Given the description of an element on the screen output the (x, y) to click on. 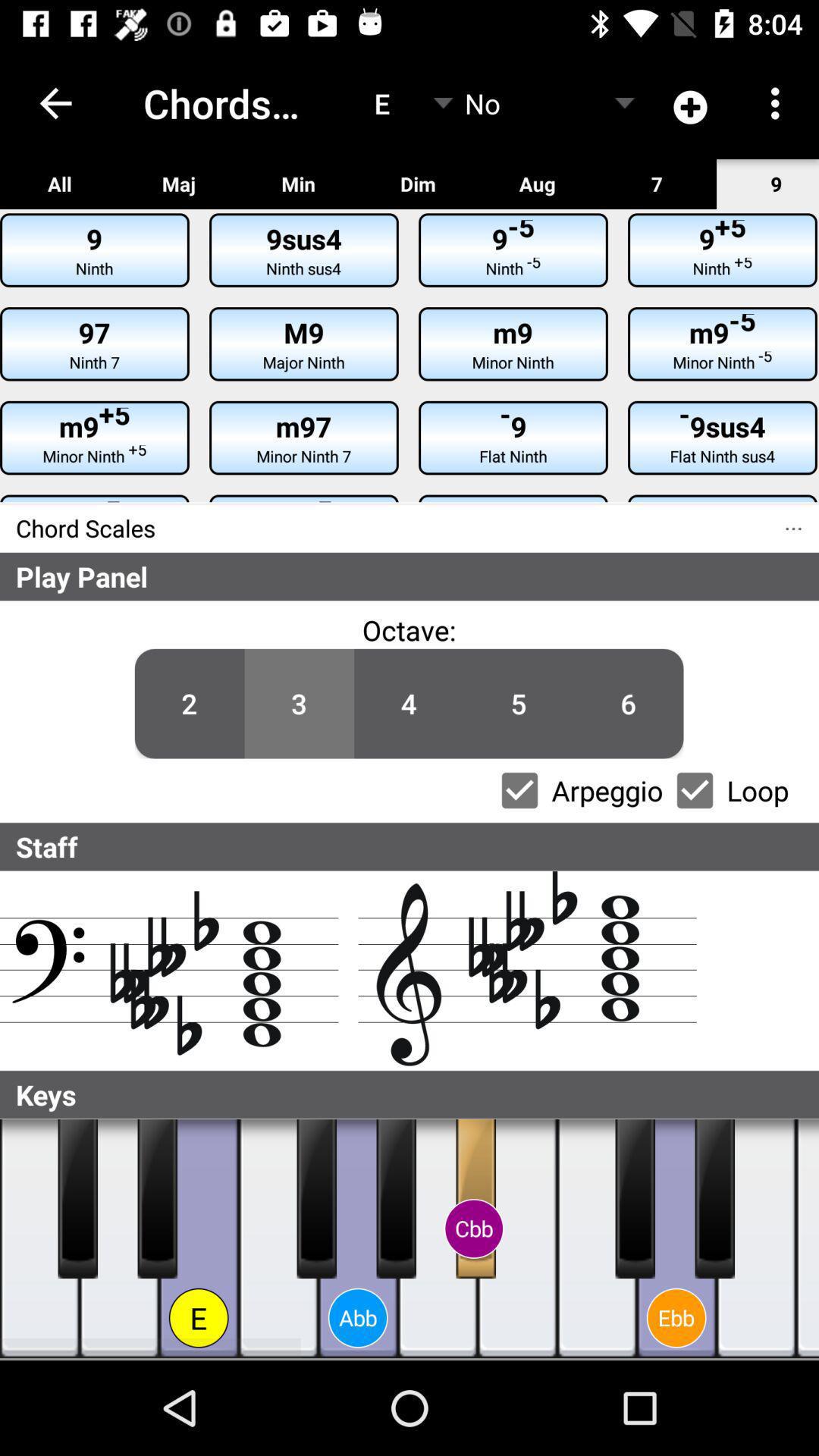
open the item to the left of loop icon (694, 790)
